Given the description of an element on the screen output the (x, y) to click on. 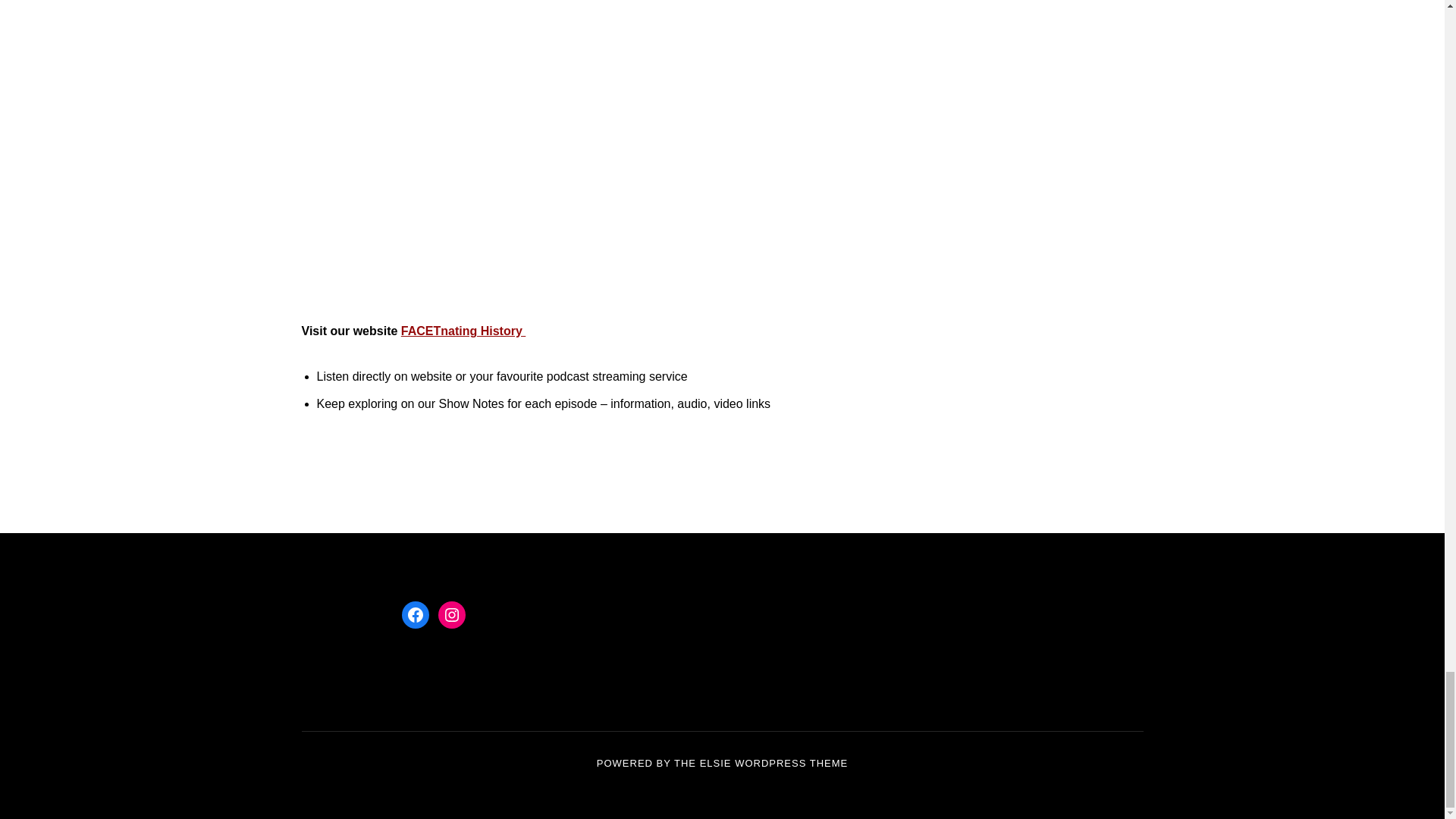
Instagram (451, 614)
Facebook (415, 614)
ELSIE (716, 763)
FACETnating History  (463, 330)
